Given the description of an element on the screen output the (x, y) to click on. 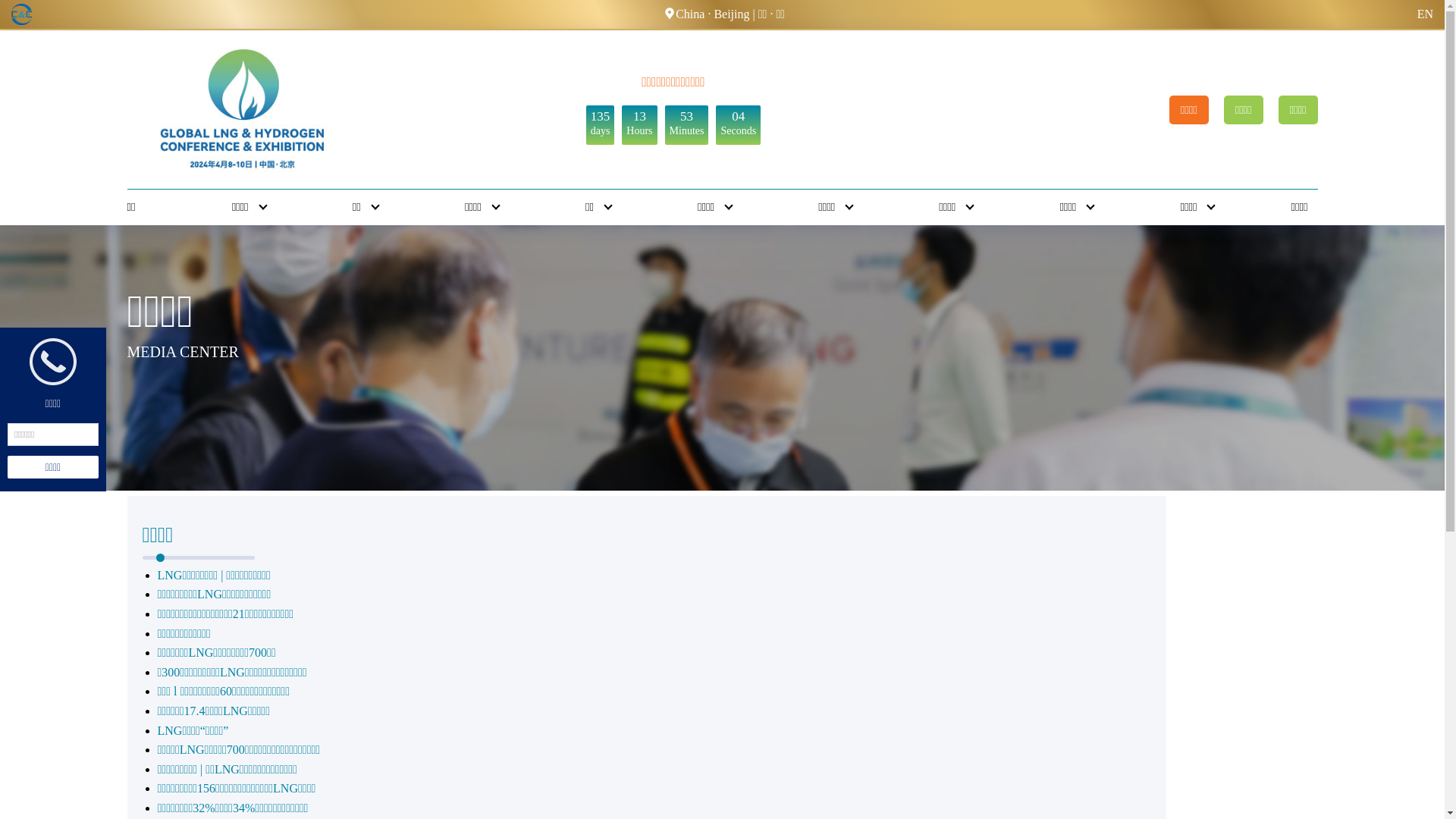
EN Element type: text (1425, 14)
